Given the description of an element on the screen output the (x, y) to click on. 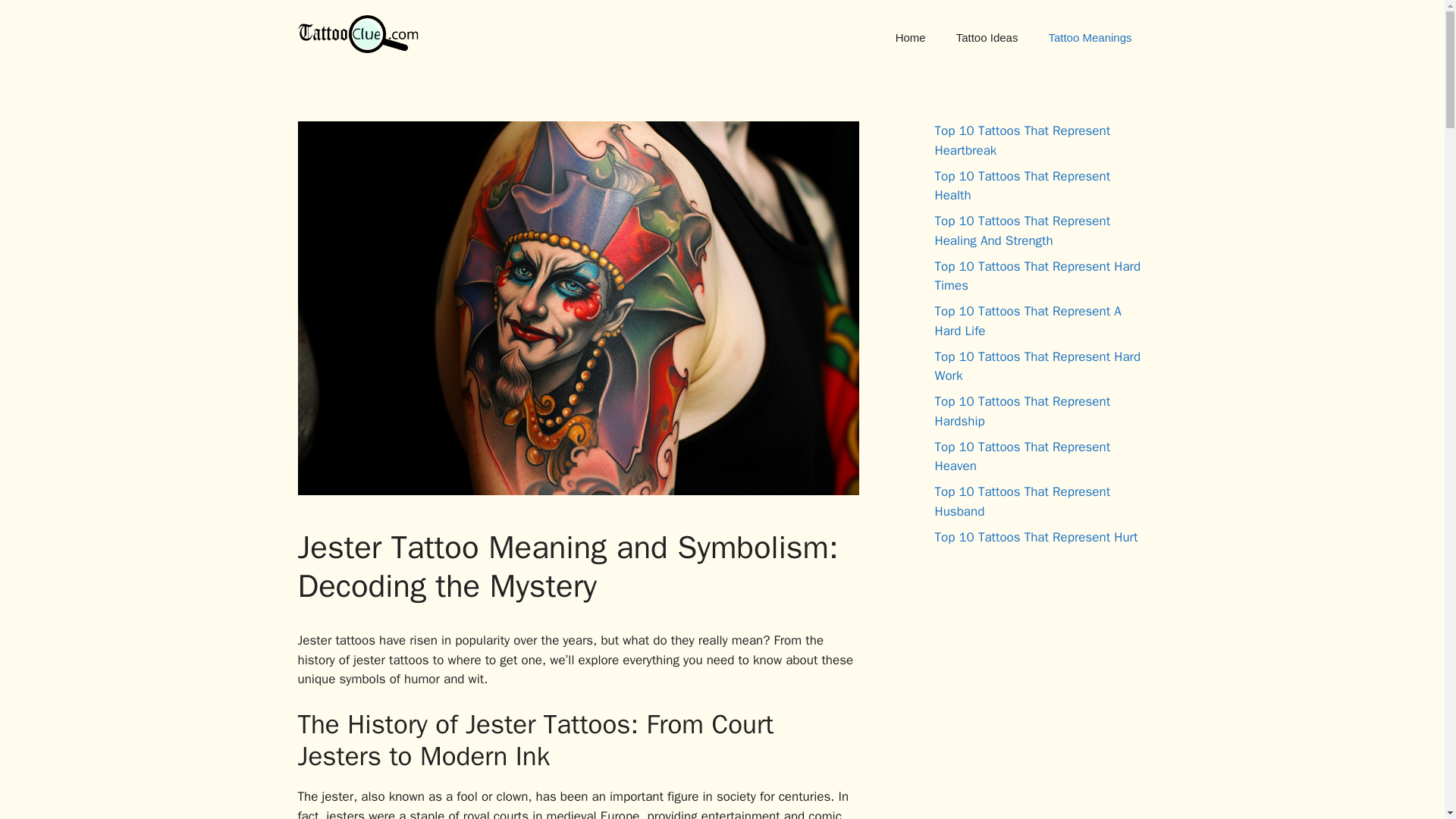
Top 10 Tattoos That Represent Healing And Strength (1021, 230)
Top 10 Tattoos That Represent Health (1021, 185)
Top 10 Tattoos That Represent Hard Work (1037, 366)
Top 10 Tattoos That Represent Hurt (1035, 537)
Tattoo Ideas (986, 37)
Top 10 Tattoos That Represent Heaven (1021, 456)
Top 10 Tattoos That Represent Heartbreak (1021, 140)
Top 10 Tattoos That Represent Hard Times (1037, 275)
Tattoo Meanings (1089, 37)
Top 10 Tattoos That Represent A Hard Life (1027, 321)
Top 10 Tattoos That Represent Husband (1021, 501)
Top 10 Tattoos That Represent Hardship (1021, 411)
Home (910, 37)
